Given the description of an element on the screen output the (x, y) to click on. 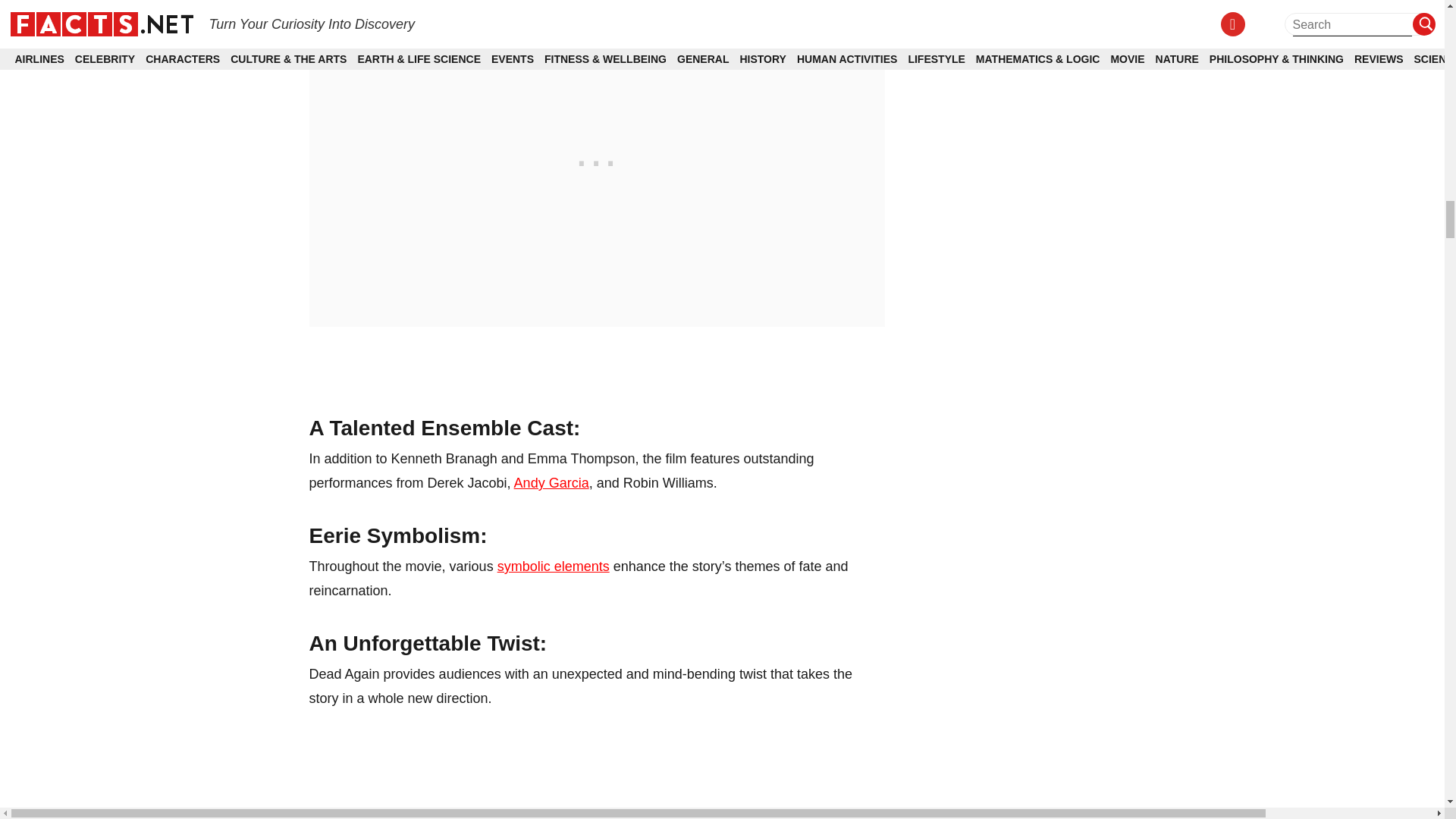
Andy Garcia (551, 482)
symbolic elements (553, 566)
